Given the description of an element on the screen output the (x, y) to click on. 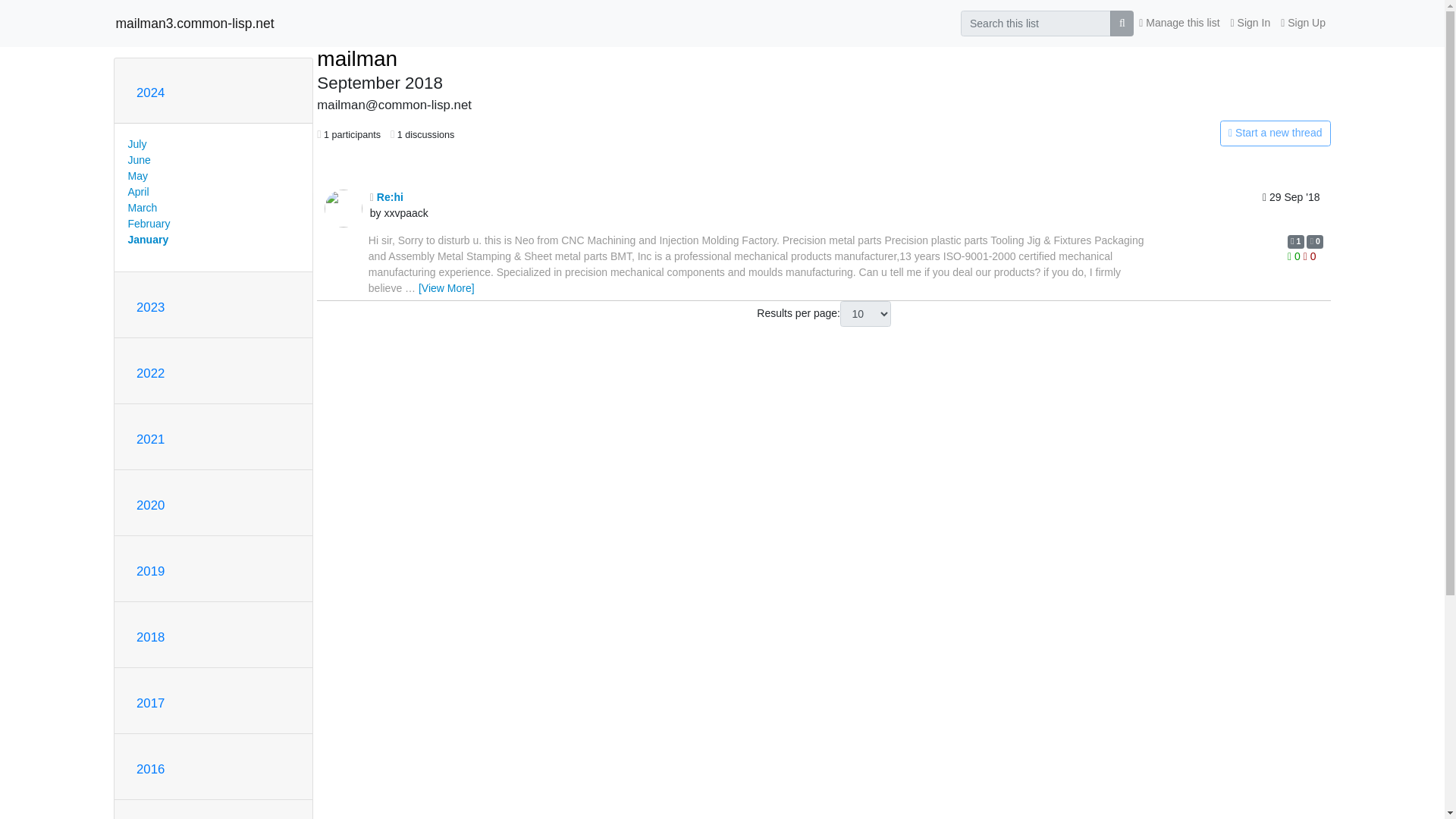
February (149, 223)
May (137, 175)
You must be logged-in to create a thread. (1162, 133)
Saturday, 29 September 2018 11:03:51 (1291, 208)
2023 (150, 307)
Sign Up (1302, 22)
You must be logged-in to vote. (1309, 256)
January (148, 239)
mailman3.common-lisp.net (194, 22)
April (138, 191)
Sign In (1250, 22)
2022 (150, 373)
March (142, 207)
June (138, 159)
Manage this list (1179, 22)
